Given the description of an element on the screen output the (x, y) to click on. 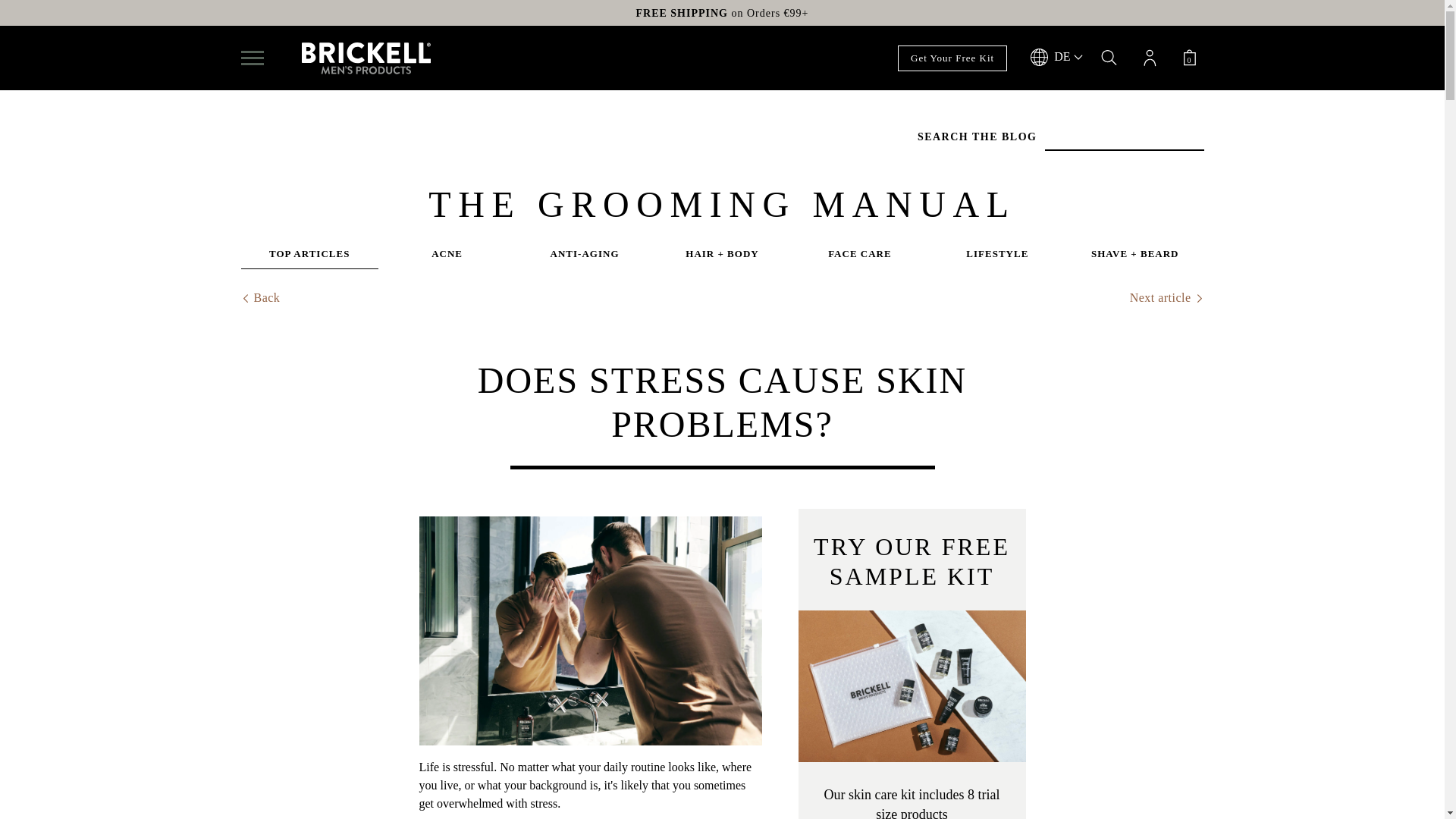
Show articles tagged Lifestyle (996, 258)
Get your FREE Sample Kit (911, 686)
Show articles tagged Acne  (446, 258)
Show articles tagged Anti-Aging (583, 258)
Show articles tagged Face Care (859, 258)
